Given the description of an element on the screen output the (x, y) to click on. 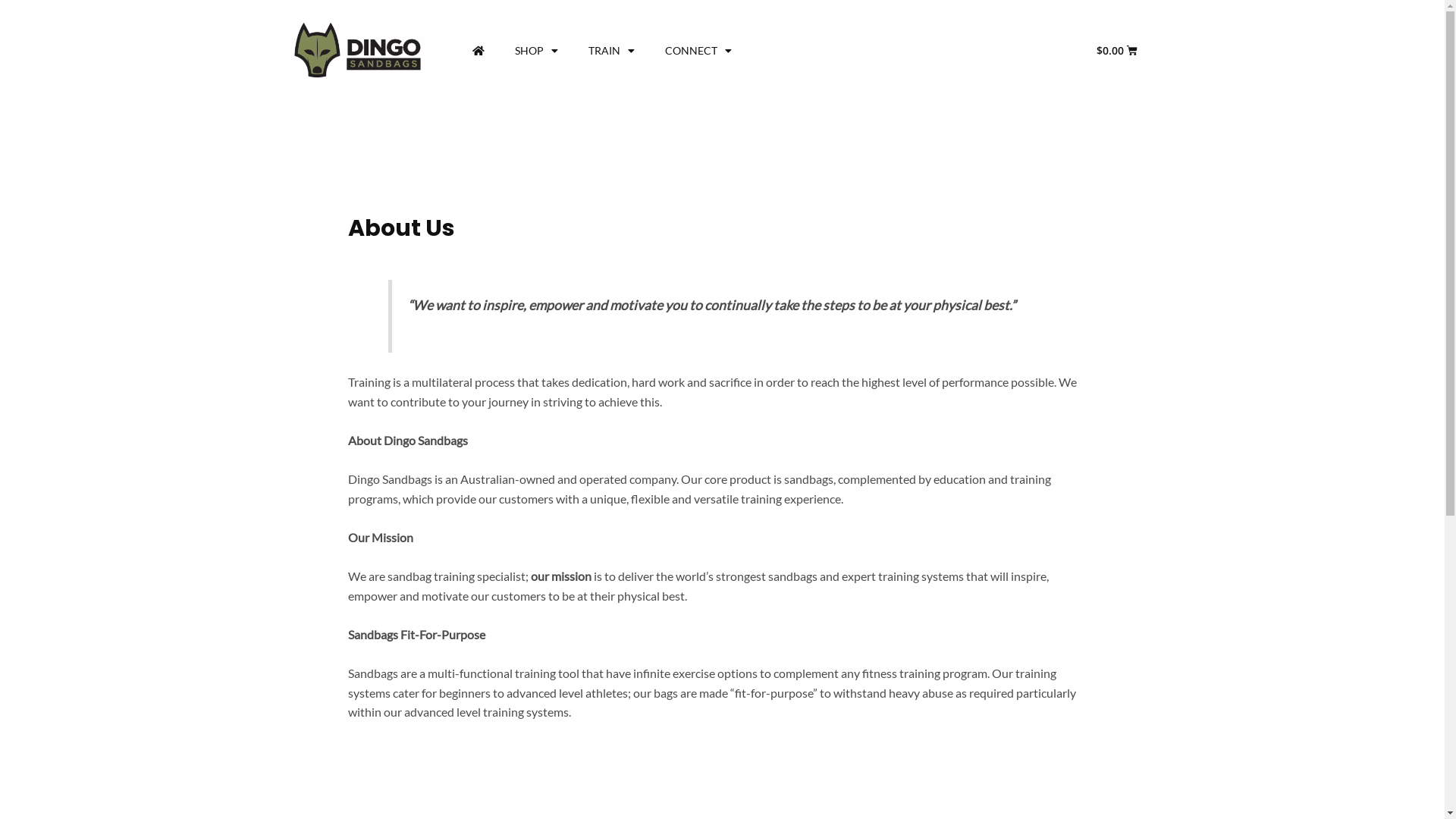
CONNECT Element type: text (697, 50)
TRAIN Element type: text (611, 50)
SHOP Element type: text (535, 50)
$0.00
CART Element type: text (1116, 50)
